Given the description of an element on the screen output the (x, y) to click on. 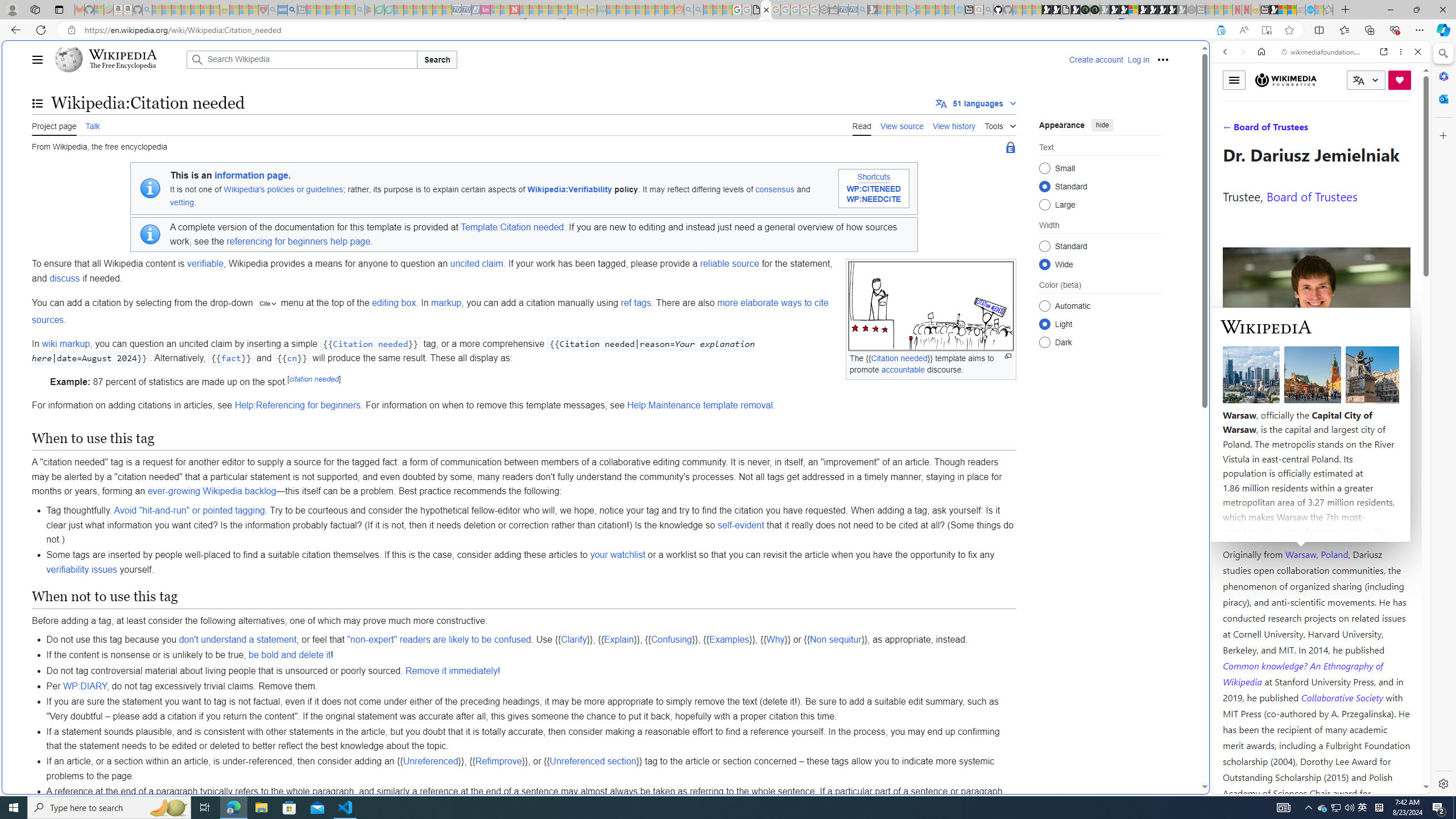
"cite" (266, 303)
Wikipedia's policies or guidelines (283, 189)
Wikimedia Foundation (1286, 79)
self-evident (740, 524)
